Given the description of an element on the screen output the (x, y) to click on. 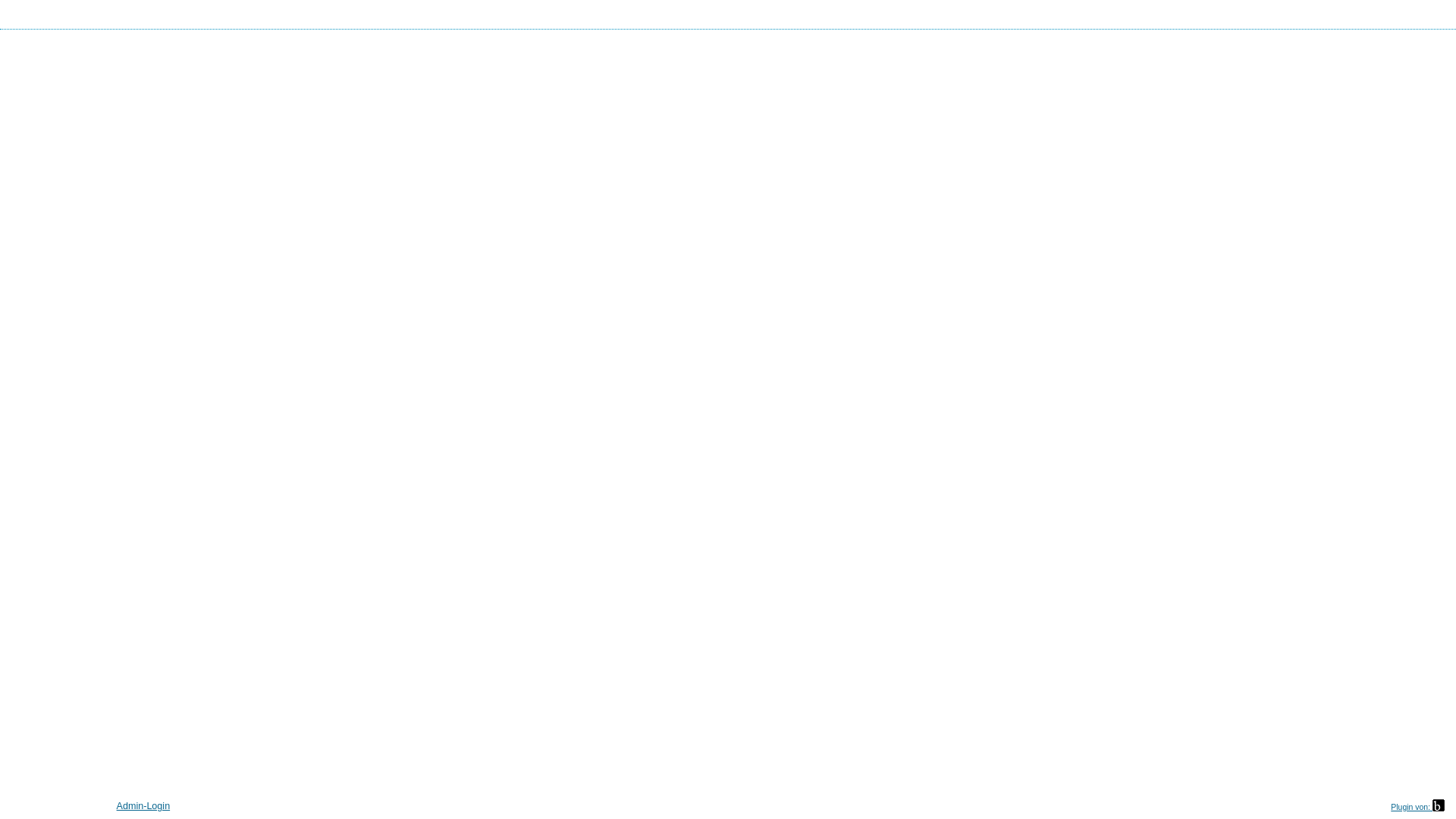
Plugin von: Element type: text (1417, 807)
Admin-Login Element type: text (143, 805)
